Given the description of an element on the screen output the (x, y) to click on. 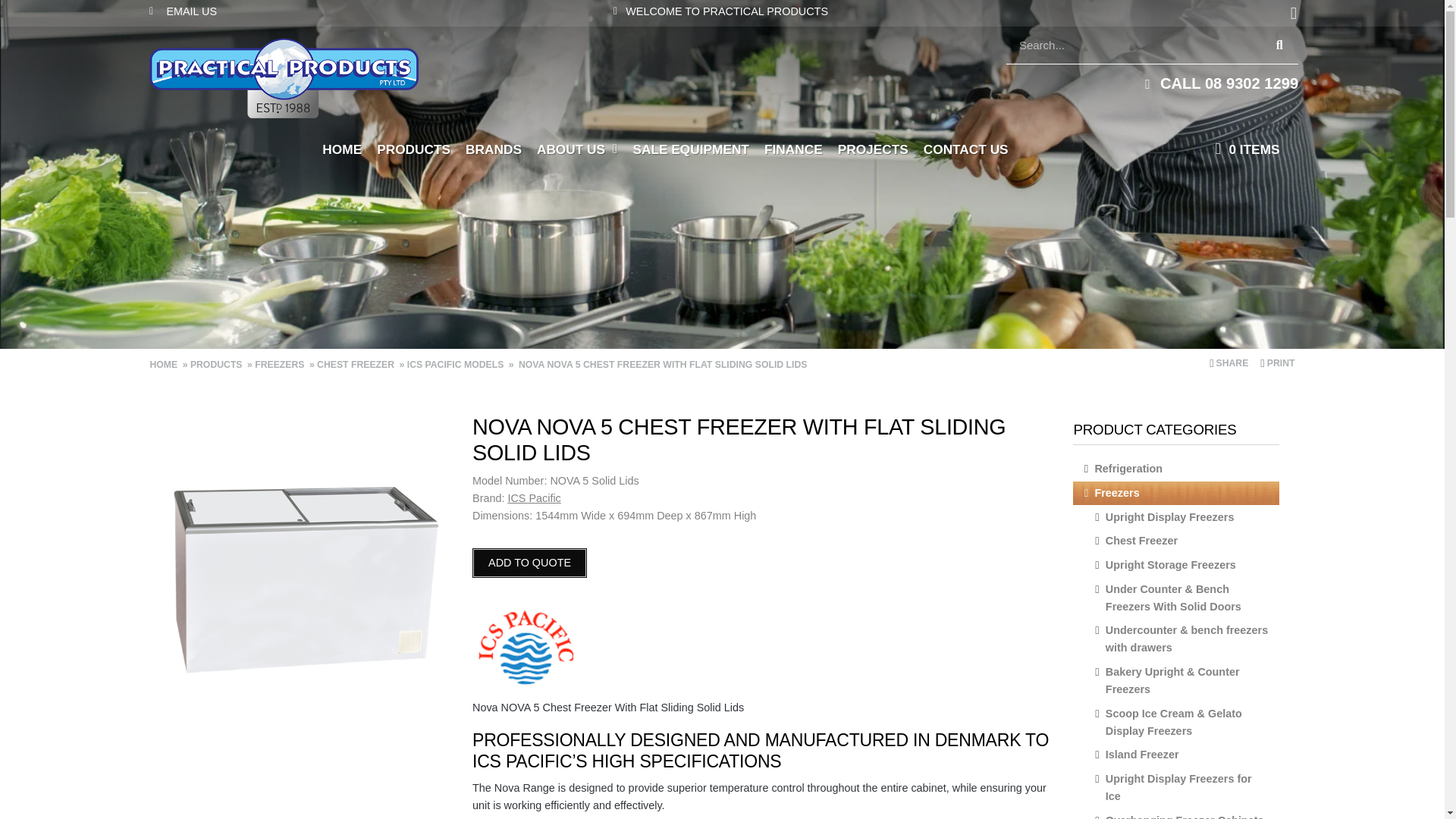
ICS PACIFIC MODELS (456, 364)
PRODUCTS (217, 364)
0 ITEMS (1253, 149)
CALL 08 9302 1299 (1152, 83)
FINANCE (793, 149)
ICS Pacific Logo (525, 646)
HOME (164, 364)
FREEZERS (279, 364)
PRINT (1277, 363)
WELCOME TO PRACTICAL PRODUCTS (718, 11)
HOME (341, 149)
PRODUCTS (414, 149)
BRANDS (493, 149)
CONTACT US (965, 149)
SALE EQUIPMENT (690, 149)
